Given the description of an element on the screen output the (x, y) to click on. 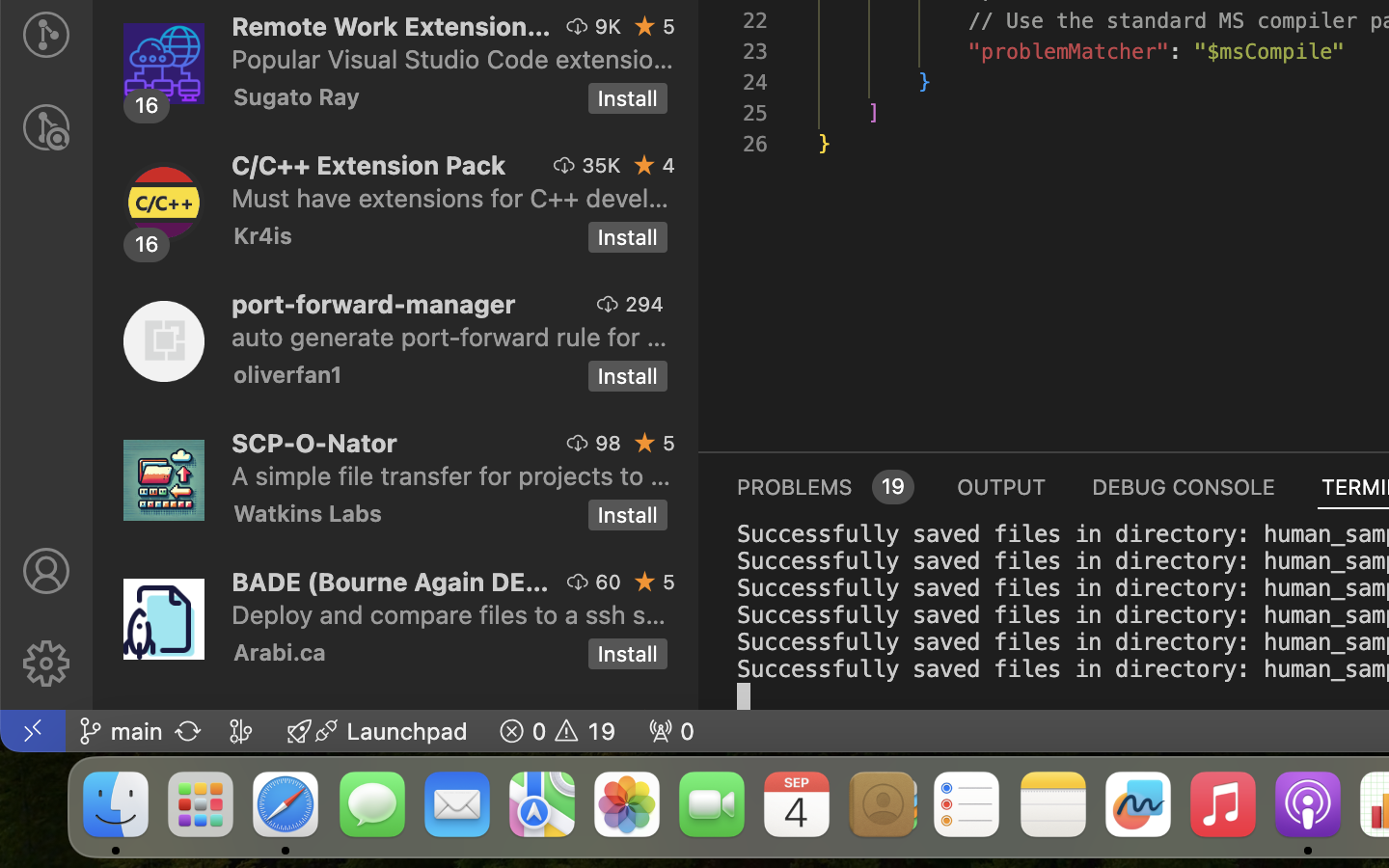
Remote Work Extension Pack Element type: AXStaticText (391, 25)
 0 Element type: AXButton (671, 730)
Launchpad   Element type: AXButton (376, 730)
oliverfan1 Element type: AXStaticText (288, 373)
0 PROBLEMS 19 Element type: AXRadioButton (824, 485)
